Given the description of an element on the screen output the (x, y) to click on. 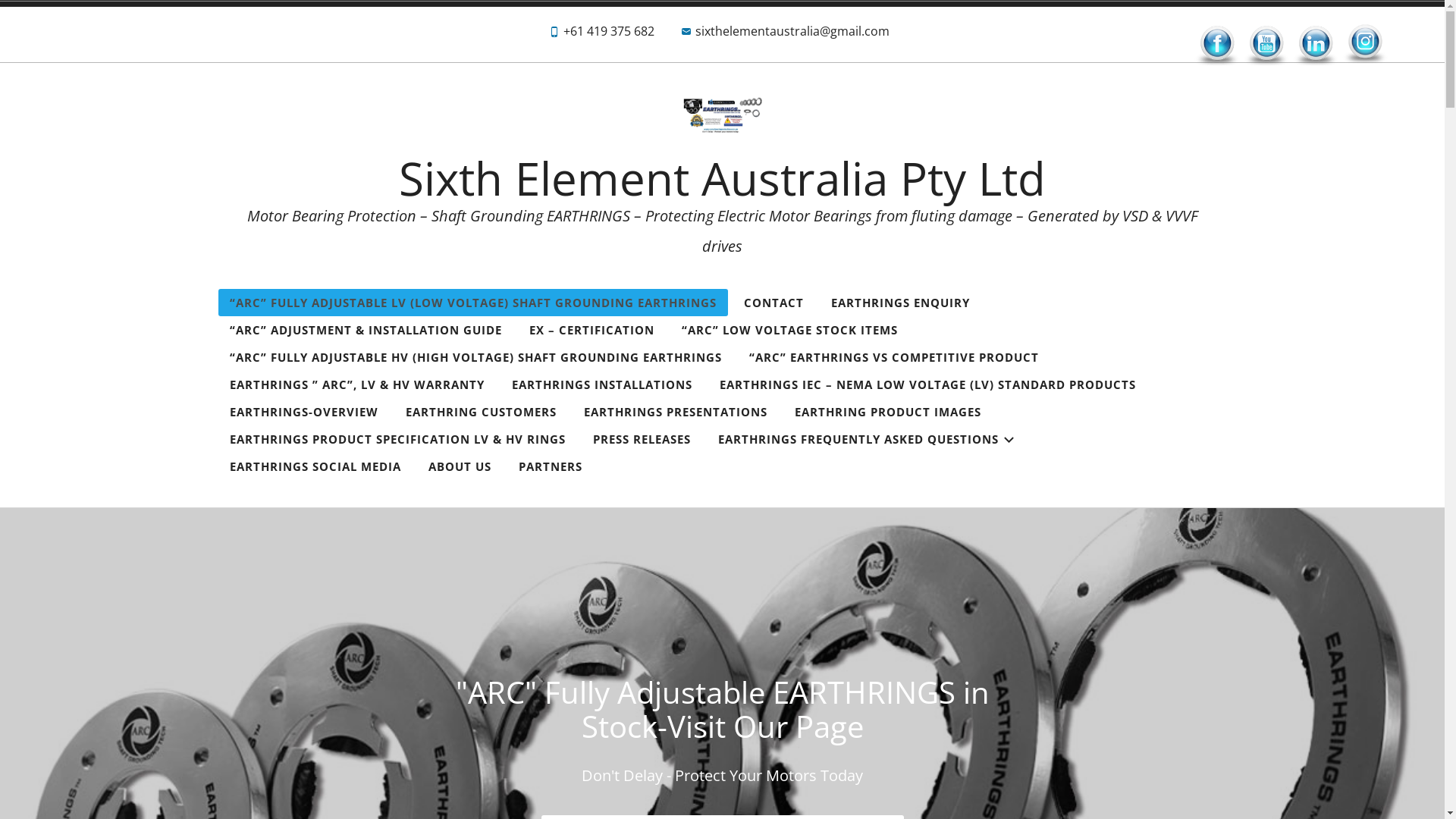
PARTNERS Element type: text (549, 466)
PRESS RELEASES Element type: text (640, 438)
EARTHRINGS-OVERVIEW Element type: text (303, 411)
EARTHRINGS PRESENTATIONS Element type: text (674, 411)
EARTHRINGS INSTALLATIONS Element type: text (601, 384)
CONTACT Element type: text (773, 302)
EARTHRINGS FREQUENTLY ASKED QUESTIONS Element type: text (866, 438)
LinkedIn Element type: hover (1315, 45)
Sixth Element Australia Pty Ltd Element type: text (721, 178)
ABOUT US Element type: text (459, 466)
EARTHRING CUSTOMERS Element type: text (480, 411)
E-mail sixthelementaustralia@gmail.com Element type: text (783, 34)
Phone +61 419 375 682 Element type: text (600, 34)
EARTHRING PRODUCT IMAGES Element type: text (886, 411)
EARTHRINGS ENQUIRY Element type: text (899, 302)
EARTHRINGS PRODUCT SPECIFICATION LV & HV RINGS Element type: text (397, 438)
Facebook Element type: hover (1216, 45)
EARTHRINGS SOCIAL MEDIA Element type: text (315, 466)
YouTube Element type: hover (1266, 45)
Instagram Element type: hover (1364, 42)
